Given the description of an element on the screen output the (x, y) to click on. 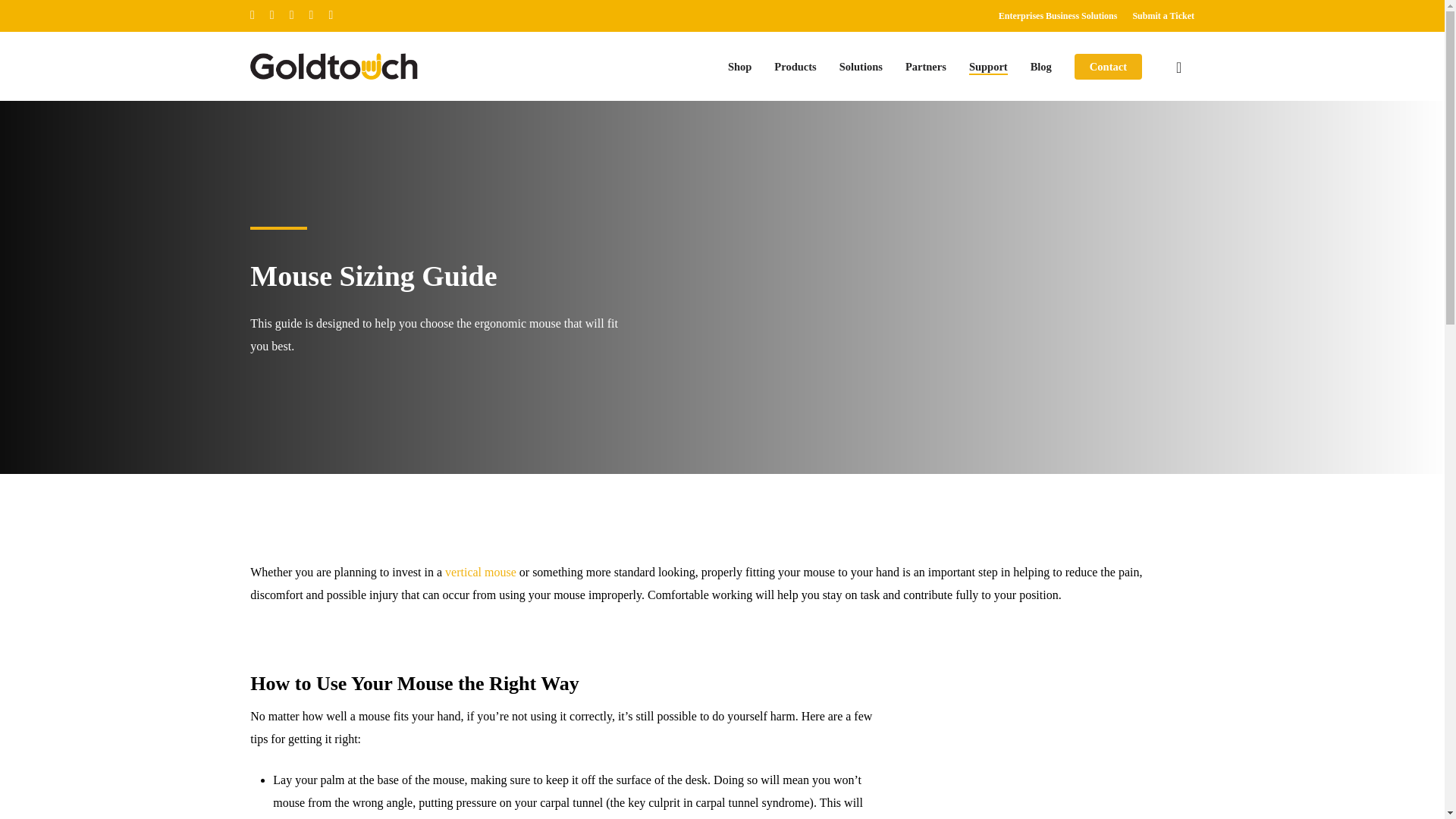
Shop (739, 66)
Solutions (861, 66)
Enterprises Business Solutions (1058, 15)
Support (988, 66)
Products (794, 66)
Partners (925, 66)
Submit a Ticket (1162, 15)
